Given the description of an element on the screen output the (x, y) to click on. 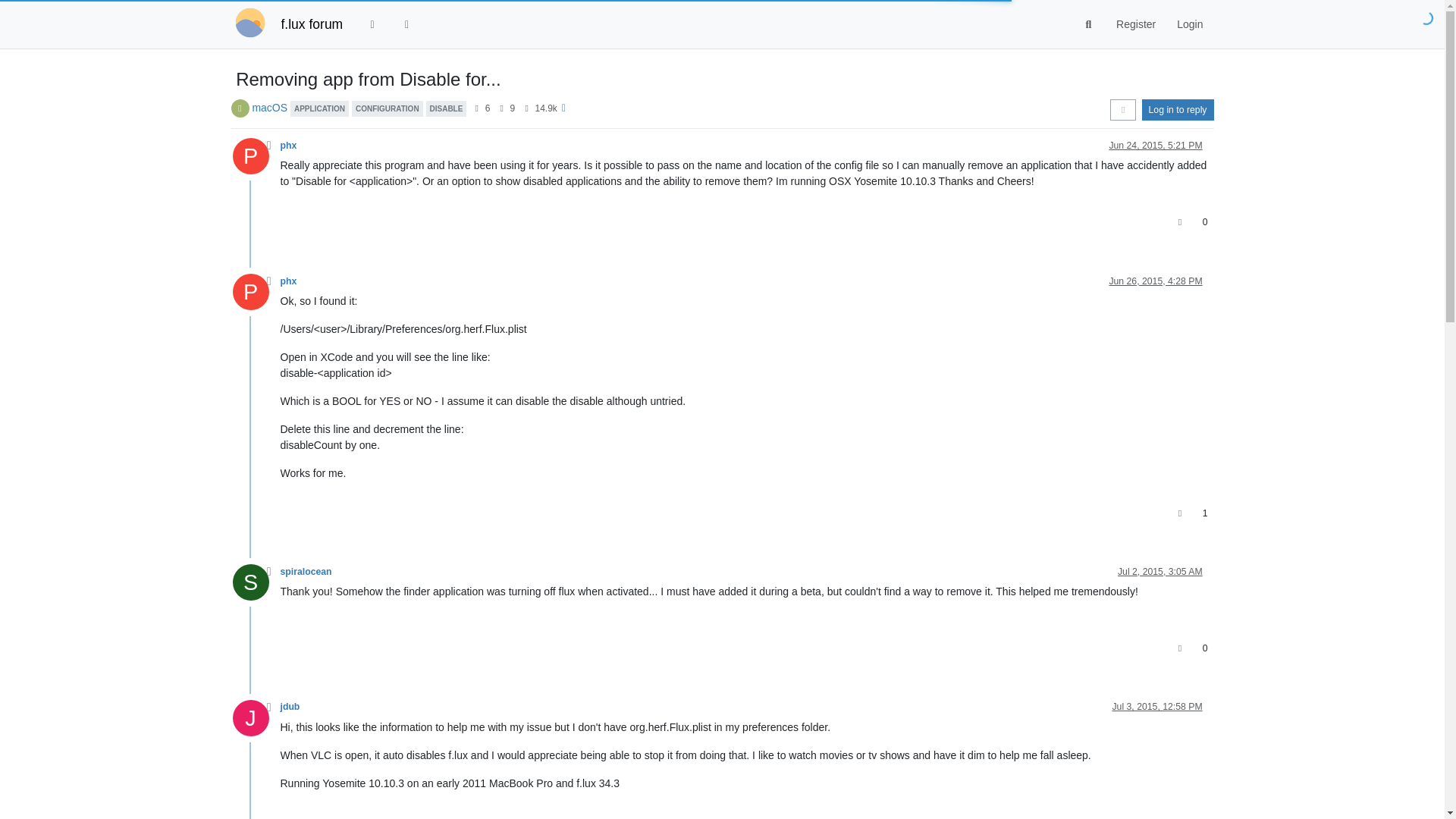
CONFIGURATION (387, 107)
Register (1135, 24)
P (255, 159)
Search (1088, 24)
DISABLE (446, 107)
phx (289, 145)
Posters (475, 108)
Login (1189, 24)
Log in to reply (1177, 109)
APPLICATION (319, 107)
f.lux forum (311, 24)
Views (526, 108)
Sort by (1122, 109)
Popular (407, 24)
macOS (268, 107)
